Given the description of an element on the screen output the (x, y) to click on. 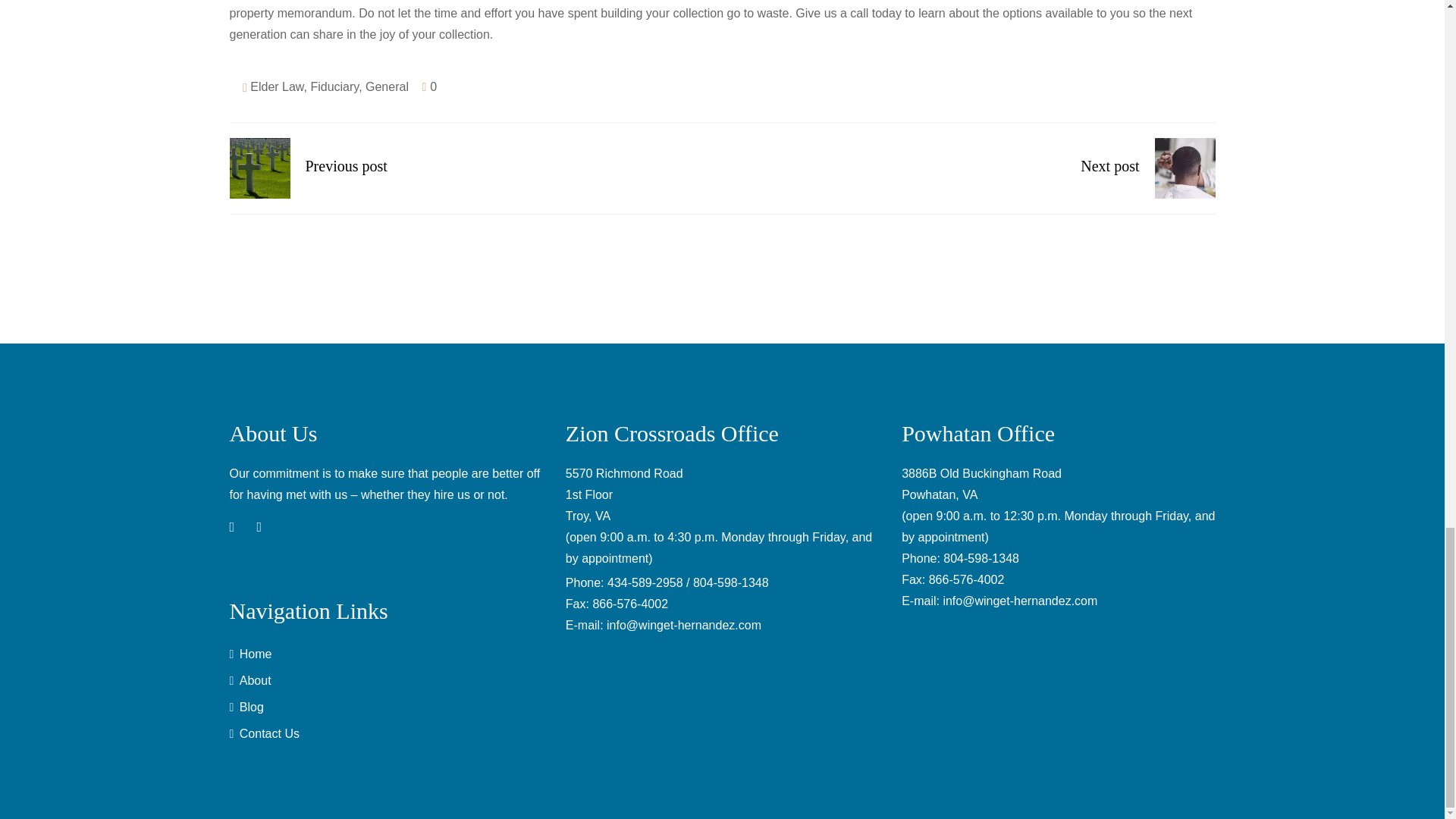
Like this (429, 86)
